Given the description of an element on the screen output the (x, y) to click on. 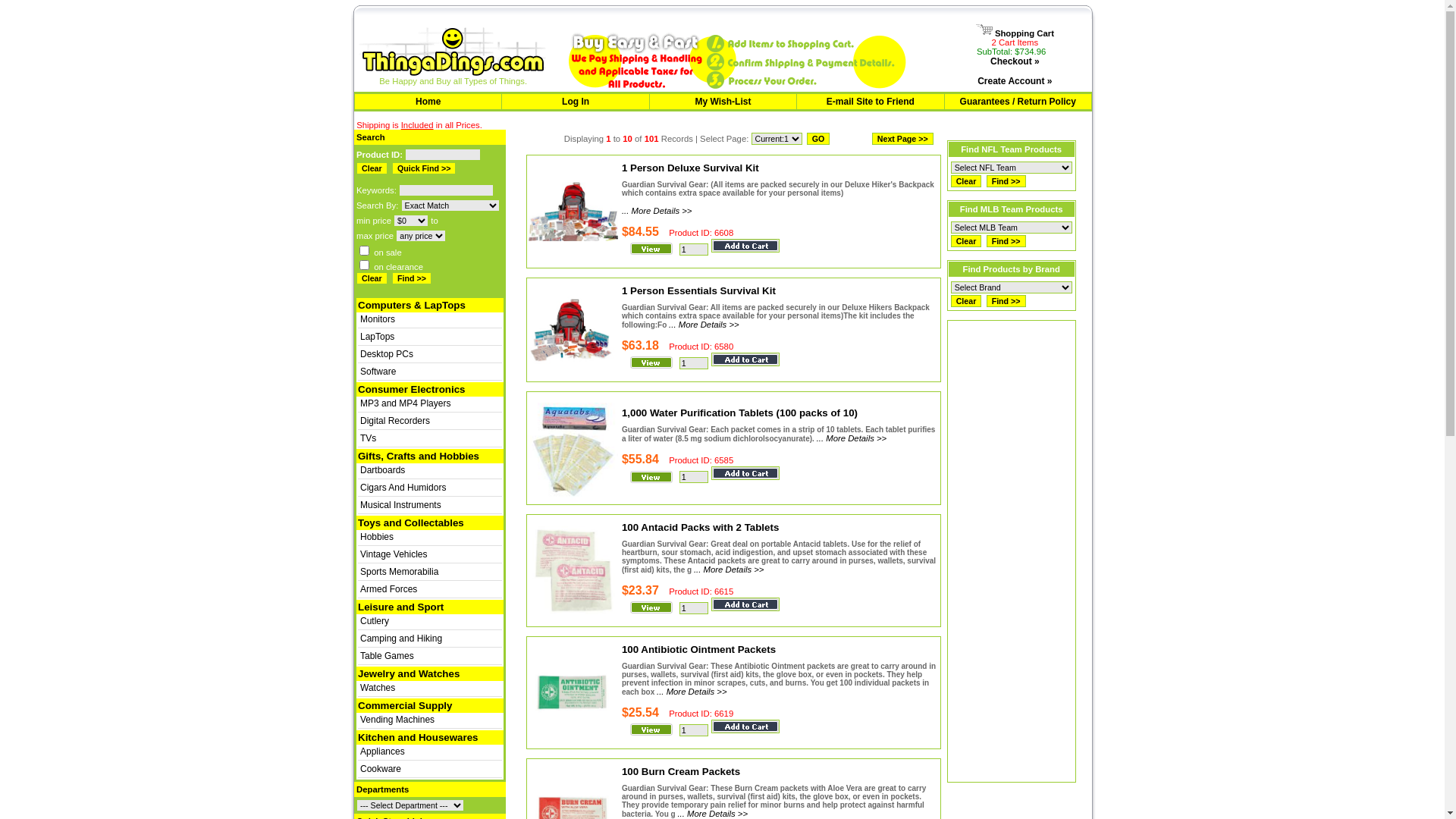
Vintage Vehicles Element type: text (393, 554)
GO Element type: text (818, 138)
Sports Memorabilia Element type: text (399, 571)
Jewelry and Watches Element type: text (408, 673)
Vending Machines Element type: text (397, 719)
My Wish-List Element type: text (723, 101)
100 Antacid Packs with 2 Tablets Element type: text (699, 527)
TVs Element type: text (368, 438)
Cookware Element type: text (380, 768)
Camping and Hiking Element type: text (401, 638)
Next Page >> Element type: text (902, 138)
1 Person Deluxe Survival Kit Element type: text (690, 167)
Quick Find >> Element type: text (423, 168)
Kitchen and Housewares Element type: text (417, 737)
Computers & LapTops Element type: text (411, 304)
LapTops Element type: text (377, 336)
Monitors Element type: text (377, 318)
... More Details >> Element type: text (656, 210)
Find >> Element type: text (411, 278)
Musical Instruments Element type: text (400, 504)
Guarantees / Return Policy Element type: text (1018, 101)
Toys and Collectables Element type: text (410, 522)
Desktop PCs Element type: text (386, 353)
Watches Element type: text (377, 687)
Consumer Electronics Element type: text (410, 389)
2 Cart Items Element type: text (1014, 42)
Find >> Element type: text (1006, 241)
Table Games Element type: text (387, 655)
100 Burn Cream Packets Element type: text (680, 771)
... More Details >> Element type: text (691, 691)
Cutlery Element type: text (374, 620)
E-mail Site to Friend Element type: text (870, 101)
Gifts, Crafts and Hobbies Element type: text (418, 455)
Hobbies Element type: text (376, 536)
Software Element type: text (377, 371)
Appliances Element type: text (382, 751)
Cigars And Humidors Element type: text (402, 487)
Digital Recorders Element type: text (394, 420)
Armed Forces Element type: text (388, 588)
MP3 and MP4 Players Element type: text (405, 403)
Advertisement Element type: hover (1011, 550)
1,000 Water Purification Tablets (100 packs of 10) Element type: text (739, 412)
SubTotal: $734.96 Element type: text (1010, 51)
Dartboards Element type: text (382, 469)
100 Antibiotic Ointment Packets Element type: text (698, 649)
1 Person Essentials Survival Kit Element type: text (698, 290)
Leisure and Sport Element type: text (400, 606)
... More Details >> Element type: text (703, 324)
Log In Element type: text (575, 101)
... More Details >> Element type: text (728, 569)
Find >> Element type: text (1006, 181)
Home Element type: text (427, 101)
 Shopping Cart Element type: text (1014, 32)
... More Details >> Element type: text (851, 437)
Find >> Element type: text (1006, 300)
Commercial Supply Element type: text (404, 705)
... More Details >> Element type: text (712, 813)
